Given the description of an element on the screen output the (x, y) to click on. 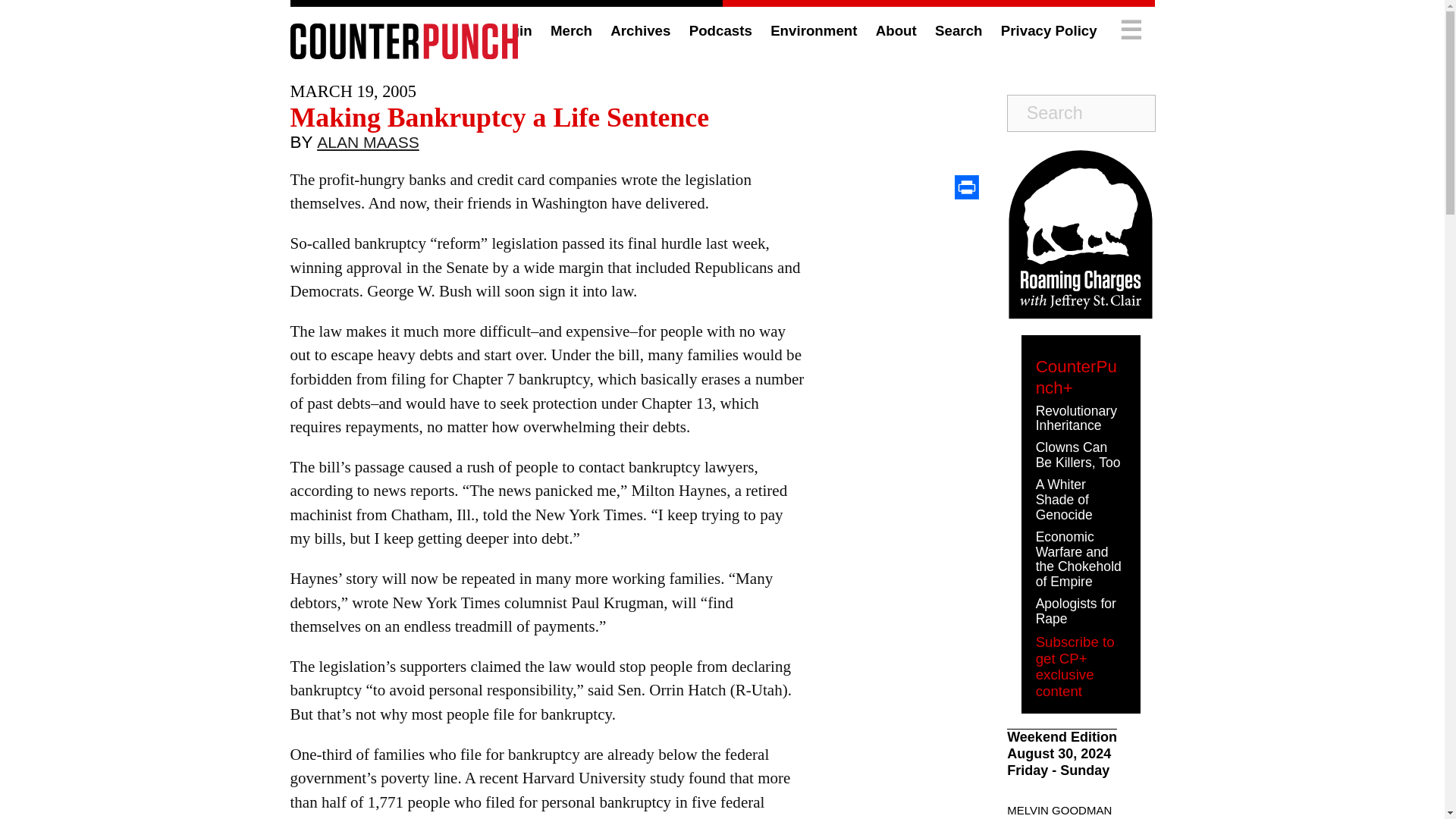
Privacy Policy (1049, 30)
Search (957, 30)
2005-03-19 (352, 90)
Podcasts (720, 30)
ALAN MAASS (368, 145)
Economic Warfare and the Chokehold of Empire (1078, 558)
Merch (571, 30)
About (896, 30)
Apologists for Rape (1075, 611)
Login (512, 30)
